Given the description of an element on the screen output the (x, y) to click on. 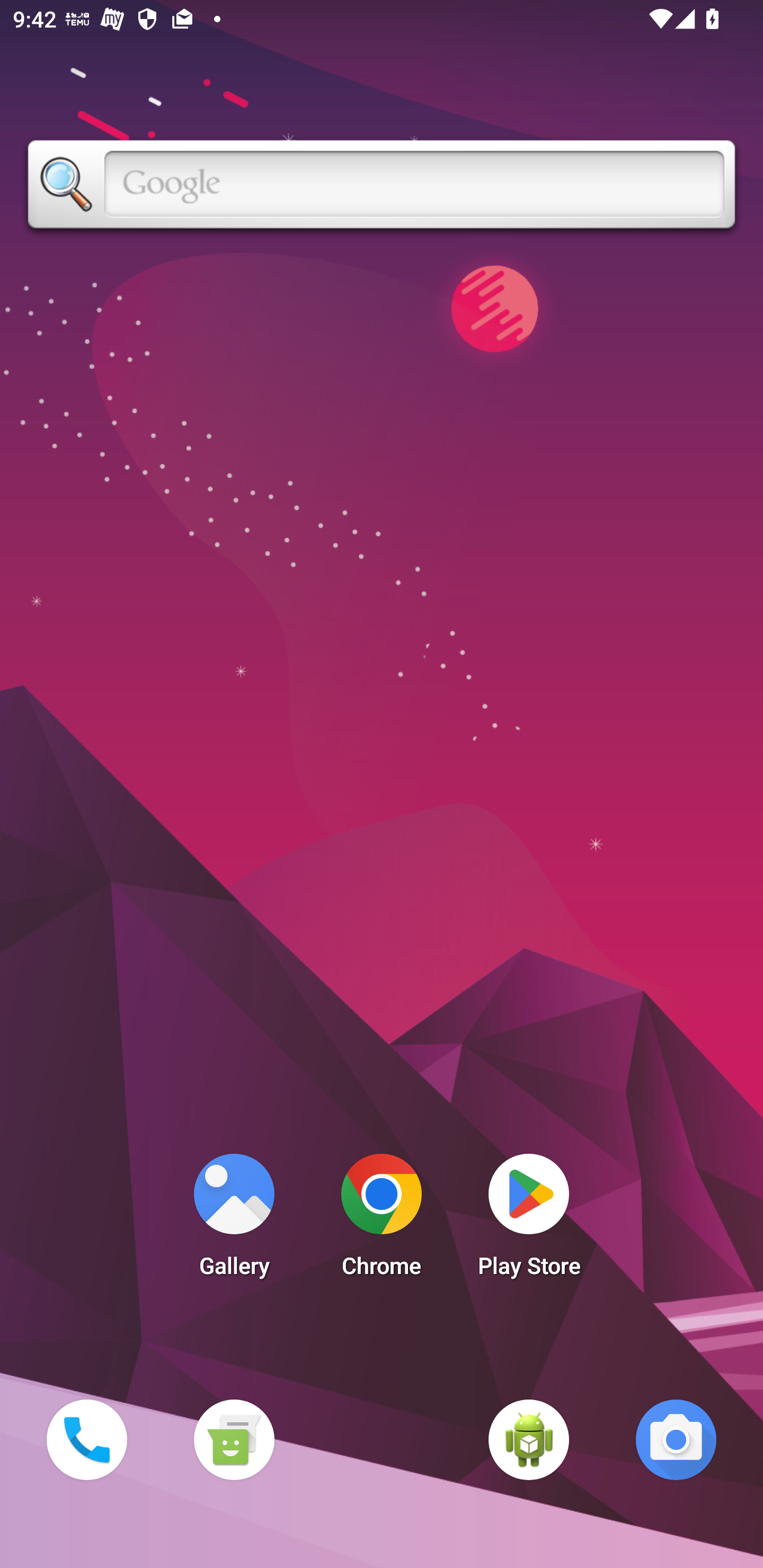
Gallery (233, 1220)
Chrome (381, 1220)
Play Store (528, 1220)
Phone (86, 1439)
Messaging (233, 1439)
WebView Browser Tester (528, 1439)
Camera (676, 1439)
